Given the description of an element on the screen output the (x, y) to click on. 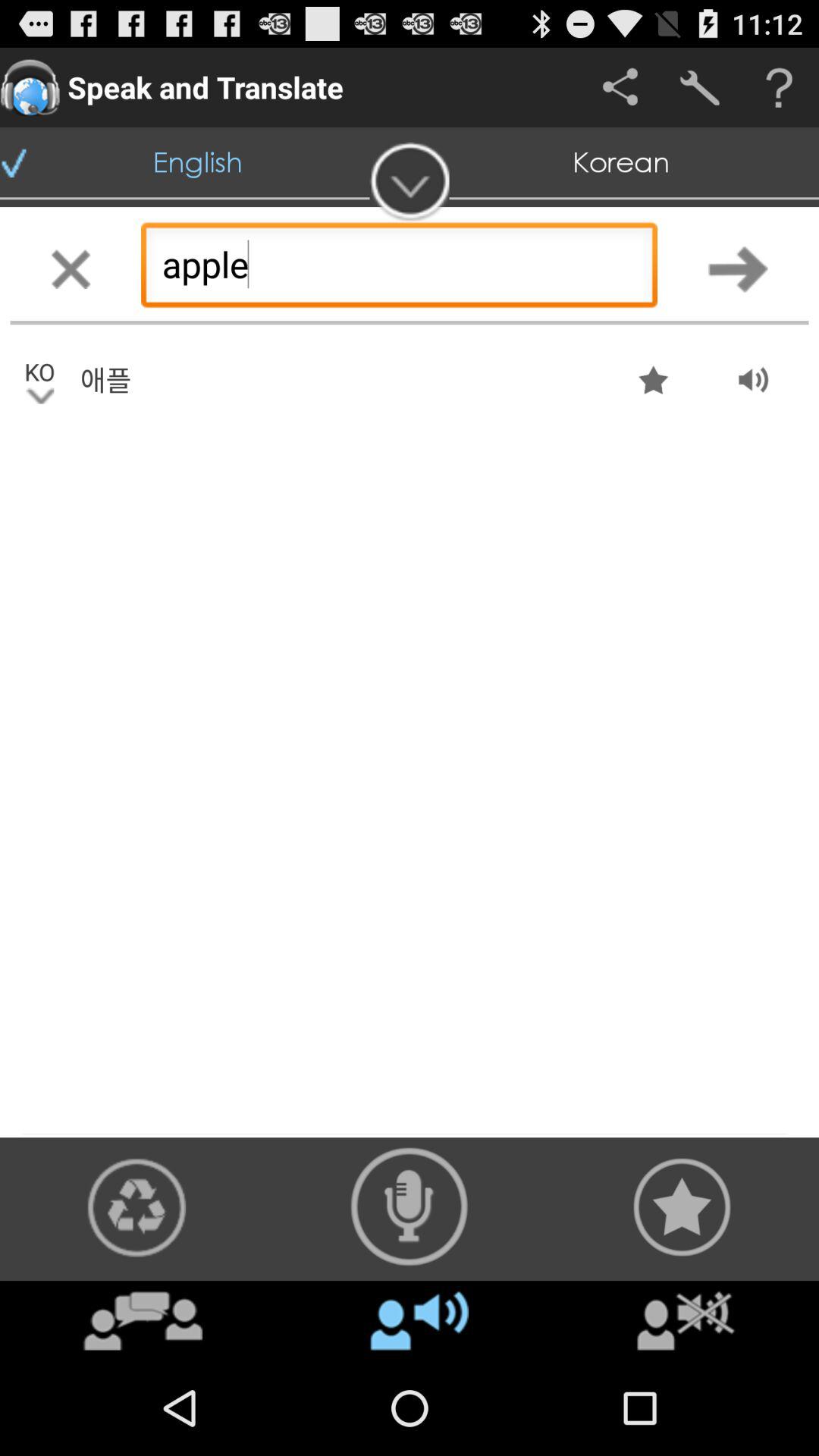
speech speaker icon (409, 1206)
